Given the description of an element on the screen output the (x, y) to click on. 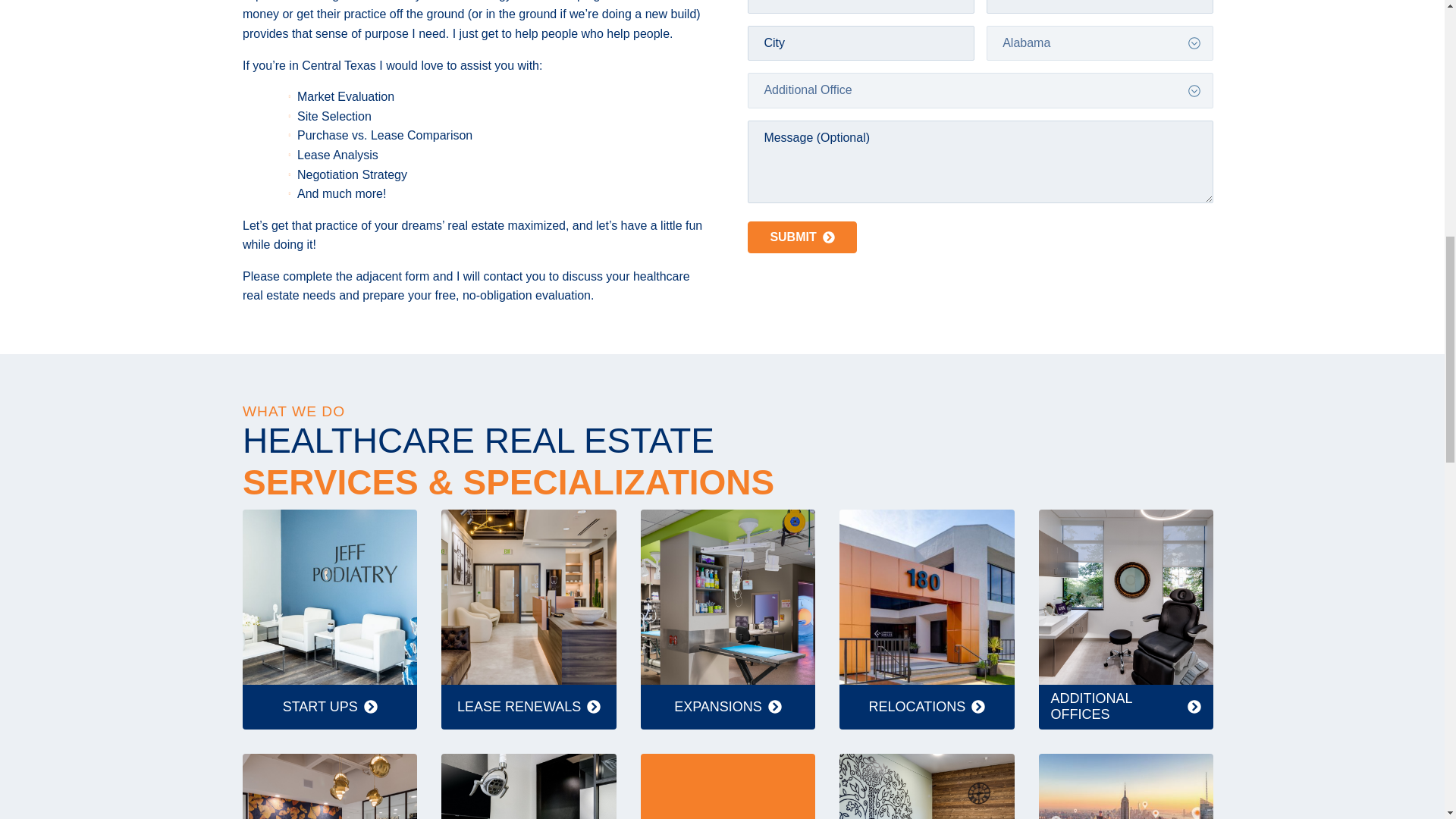
Submit (802, 237)
